Given the description of an element on the screen output the (x, y) to click on. 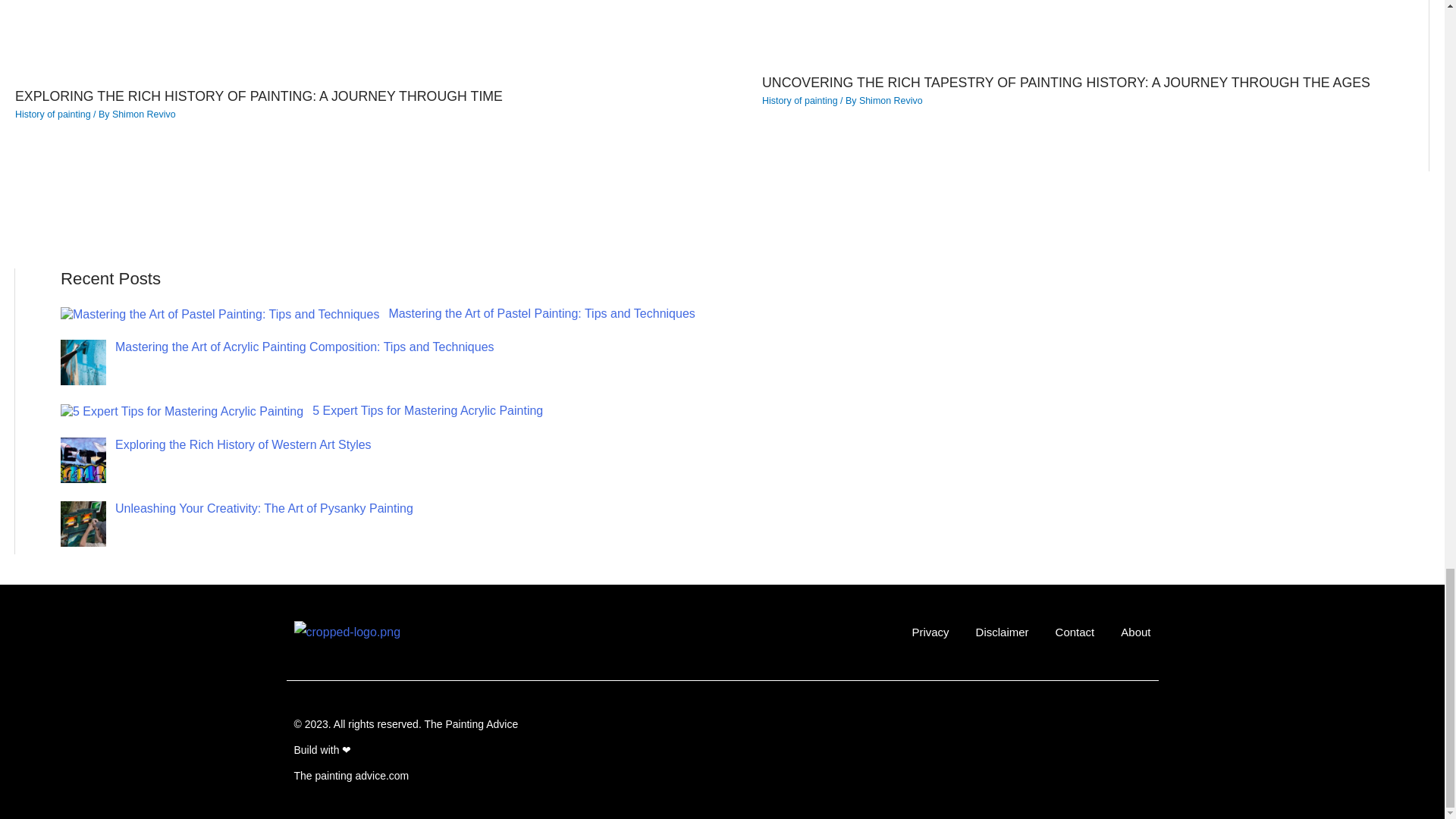
Shimon Revivo (891, 100)
View all posts by Shimon Revivo (891, 100)
View all posts by Shimon Revivo (144, 113)
cropped-logo.png (347, 631)
Shimon Revivo (144, 113)
History of painting (52, 113)
History of painting (799, 100)
